Given the description of an element on the screen output the (x, y) to click on. 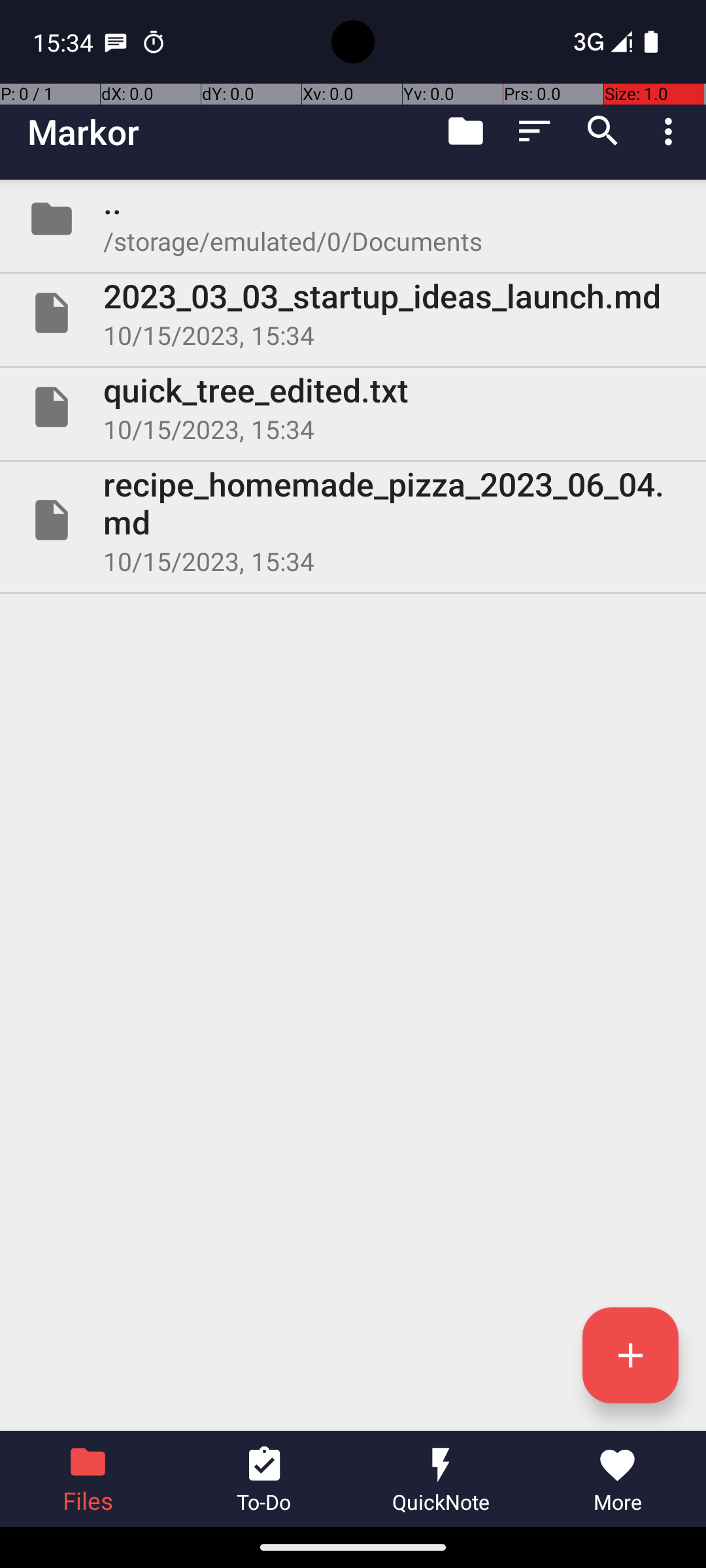
File 2023_03_03_startup_ideas_launch.md  Element type: android.widget.LinearLayout (353, 312)
File quick_tree_edited.txt  Element type: android.widget.LinearLayout (353, 406)
File recipe_homemade_pizza_2023_06_04.md  Element type: android.widget.LinearLayout (353, 519)
